Given the description of an element on the screen output the (x, y) to click on. 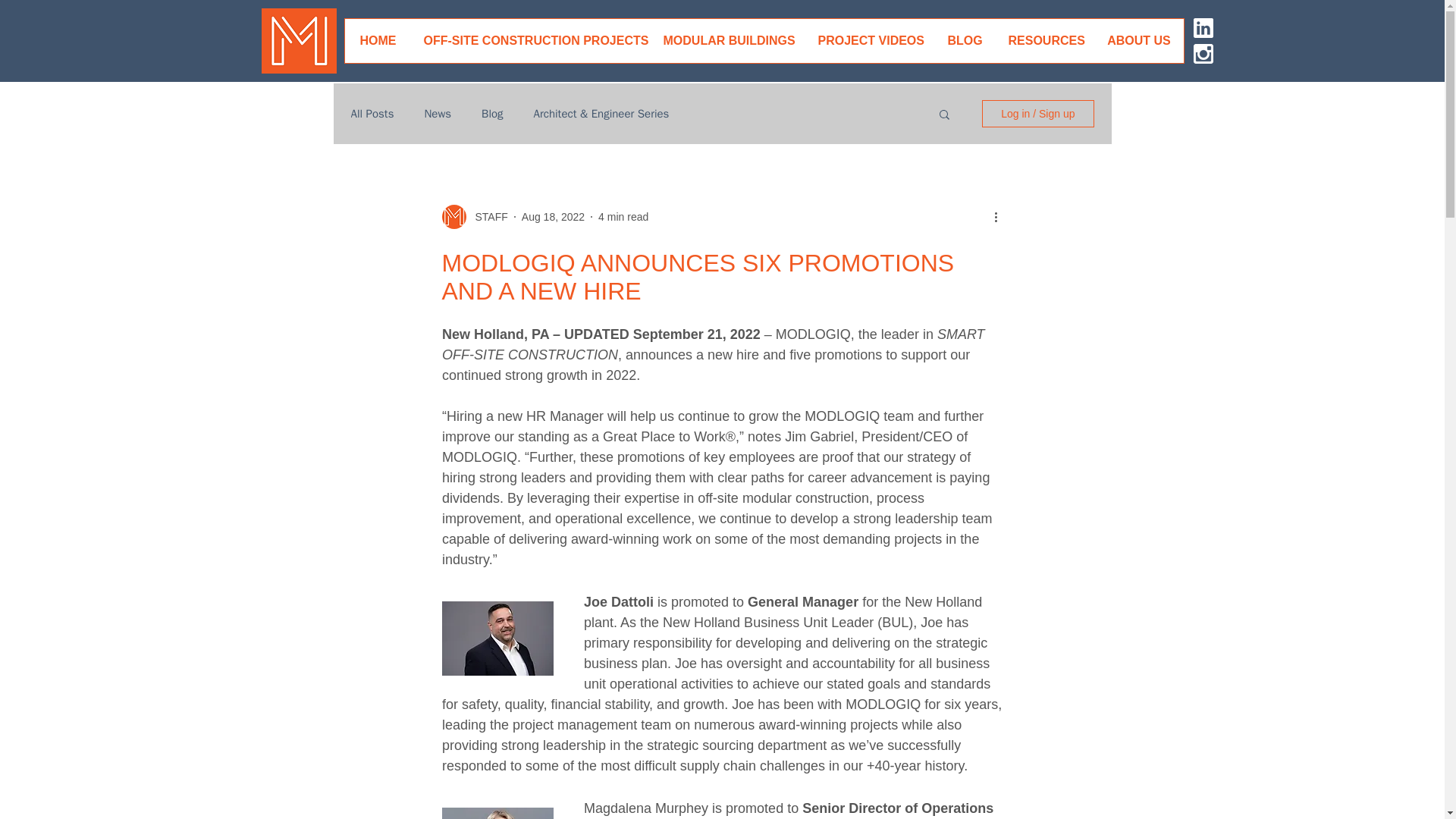
HOME (376, 40)
PROJECT VIDEOS (869, 40)
ABOUT US (1137, 40)
STAFF (473, 216)
News (437, 113)
RESOURCES (1044, 40)
Blog (491, 113)
STAFF (485, 217)
All Posts (371, 113)
BLOG (964, 40)
